Given the description of an element on the screen output the (x, y) to click on. 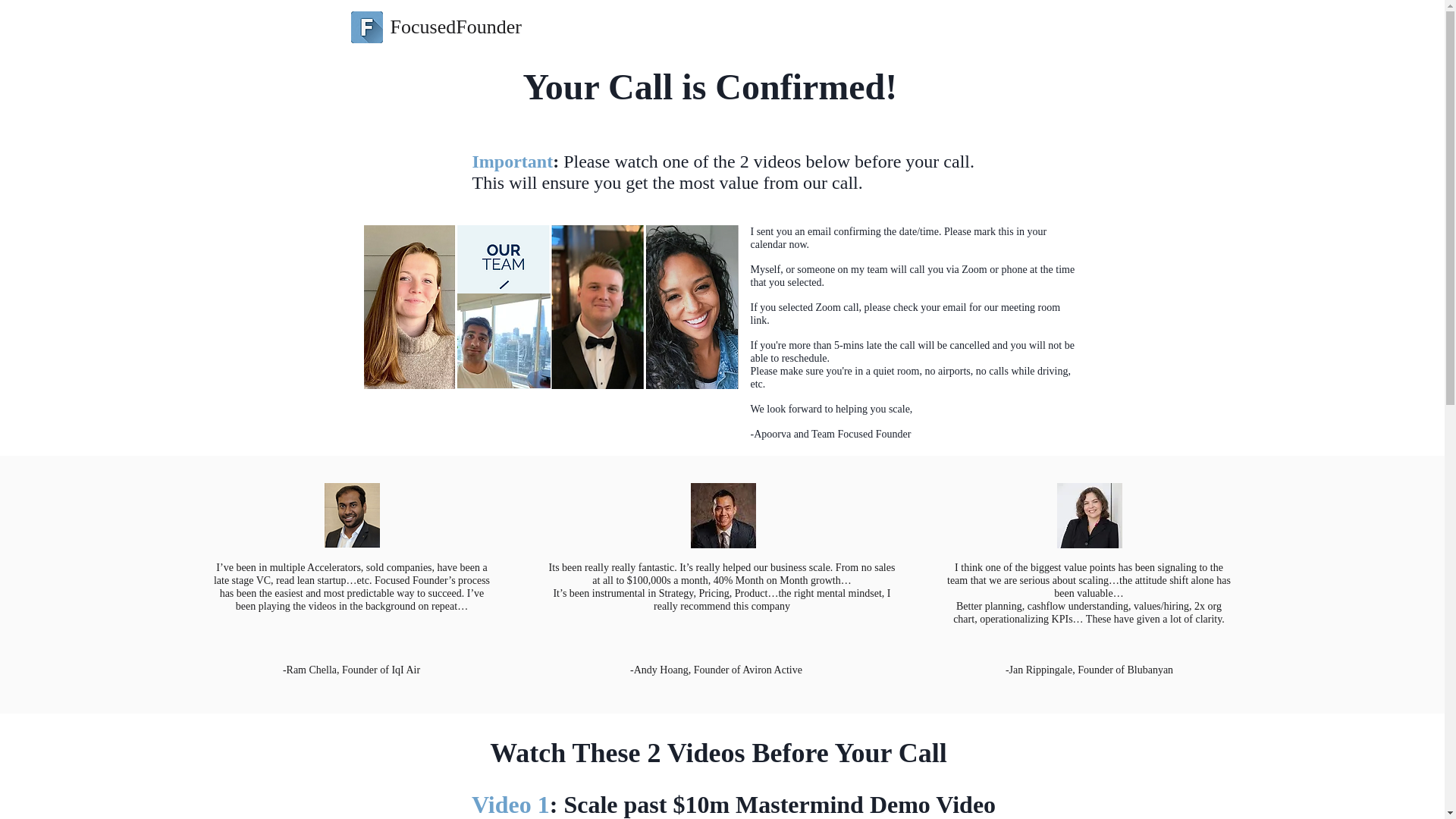
letter-f.png (365, 27)
